Given the description of an element on the screen output the (x, y) to click on. 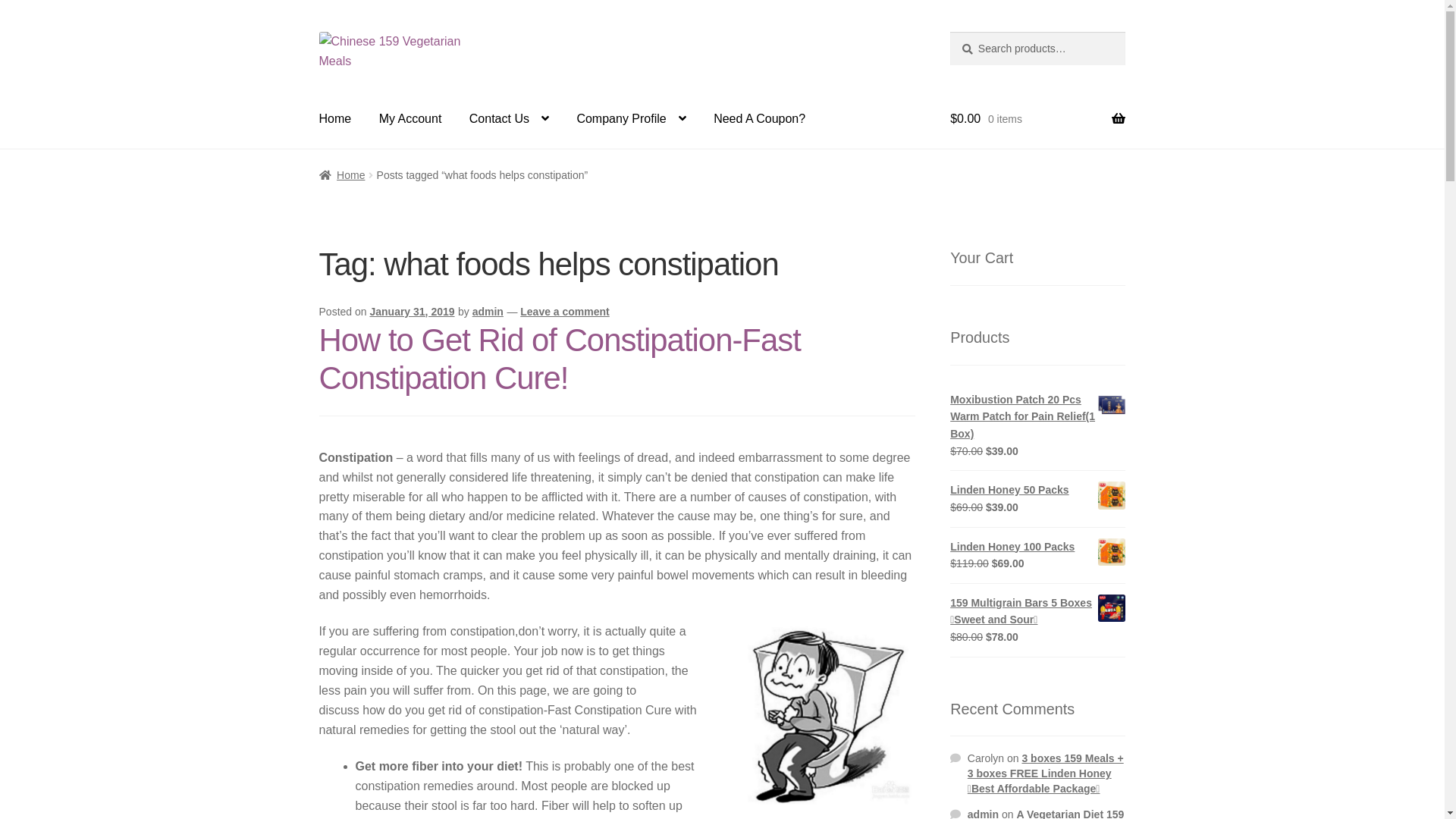
Company Profile Element type: text (630, 118)
Skip to navigation Element type: text (318, 31)
Search Element type: text (949, 31)
Home Element type: text (342, 175)
Leave a comment Element type: text (564, 311)
January 31, 2019 Element type: text (411, 311)
Linden Honey 50 Packs Element type: text (1037, 489)
Linden Honey 100 Packs Element type: text (1037, 546)
Home Element type: text (335, 118)
Moxibustion Patch 20 Pcs Warm Patch for Pain Relief(1 Box) Element type: text (1037, 416)
My Account Element type: text (410, 118)
Contact Us Element type: text (509, 118)
admin Element type: text (487, 311)
$0.00 0 items Element type: text (1037, 118)
How to Get Rid of Constipation-Fast Constipation Cure! Element type: text (559, 359)
Need A Coupon? Element type: text (759, 118)
